Given the description of an element on the screen output the (x, y) to click on. 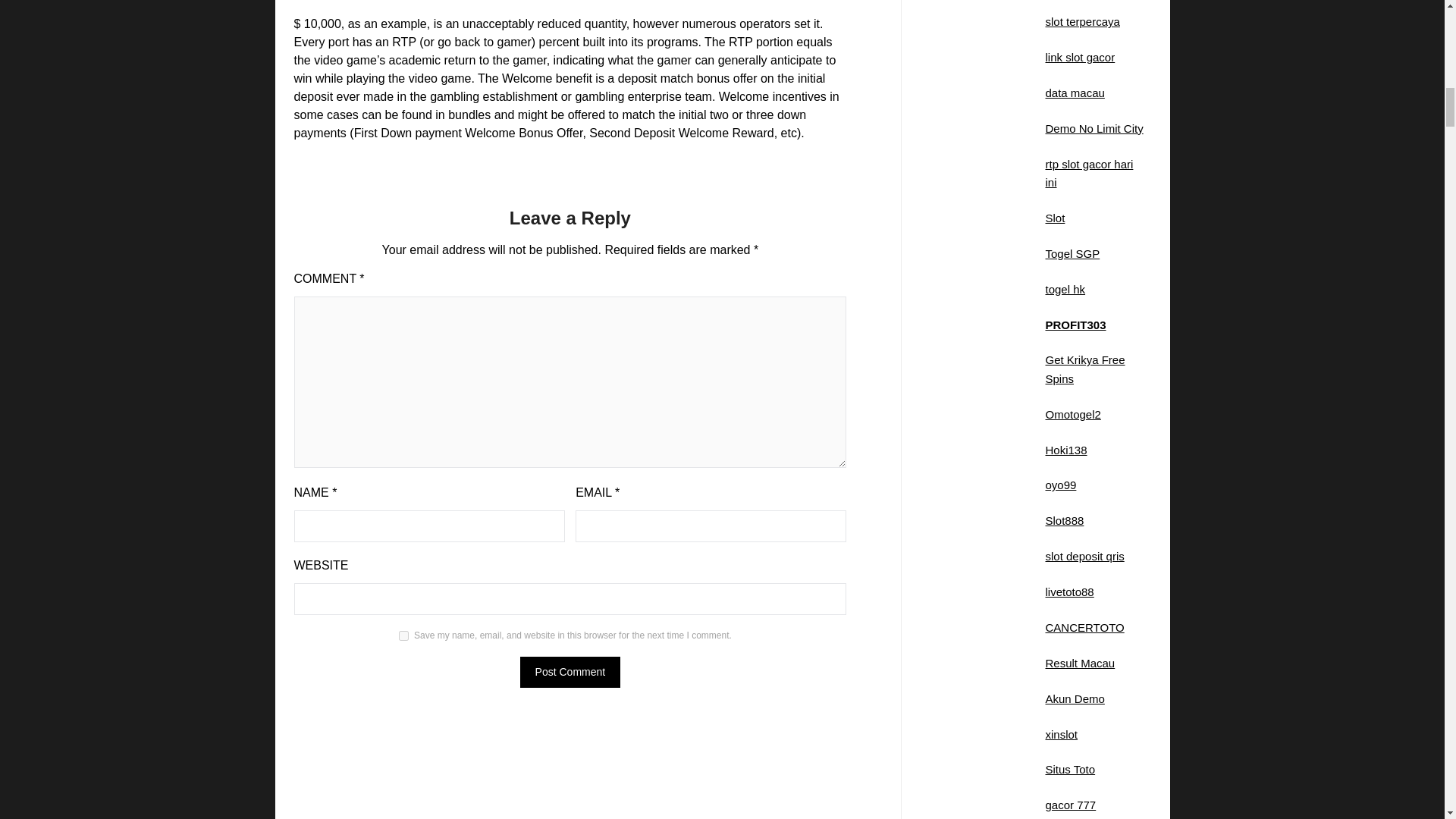
Post Comment (570, 671)
Post Comment (570, 671)
yes (403, 635)
